Given the description of an element on the screen output the (x, y) to click on. 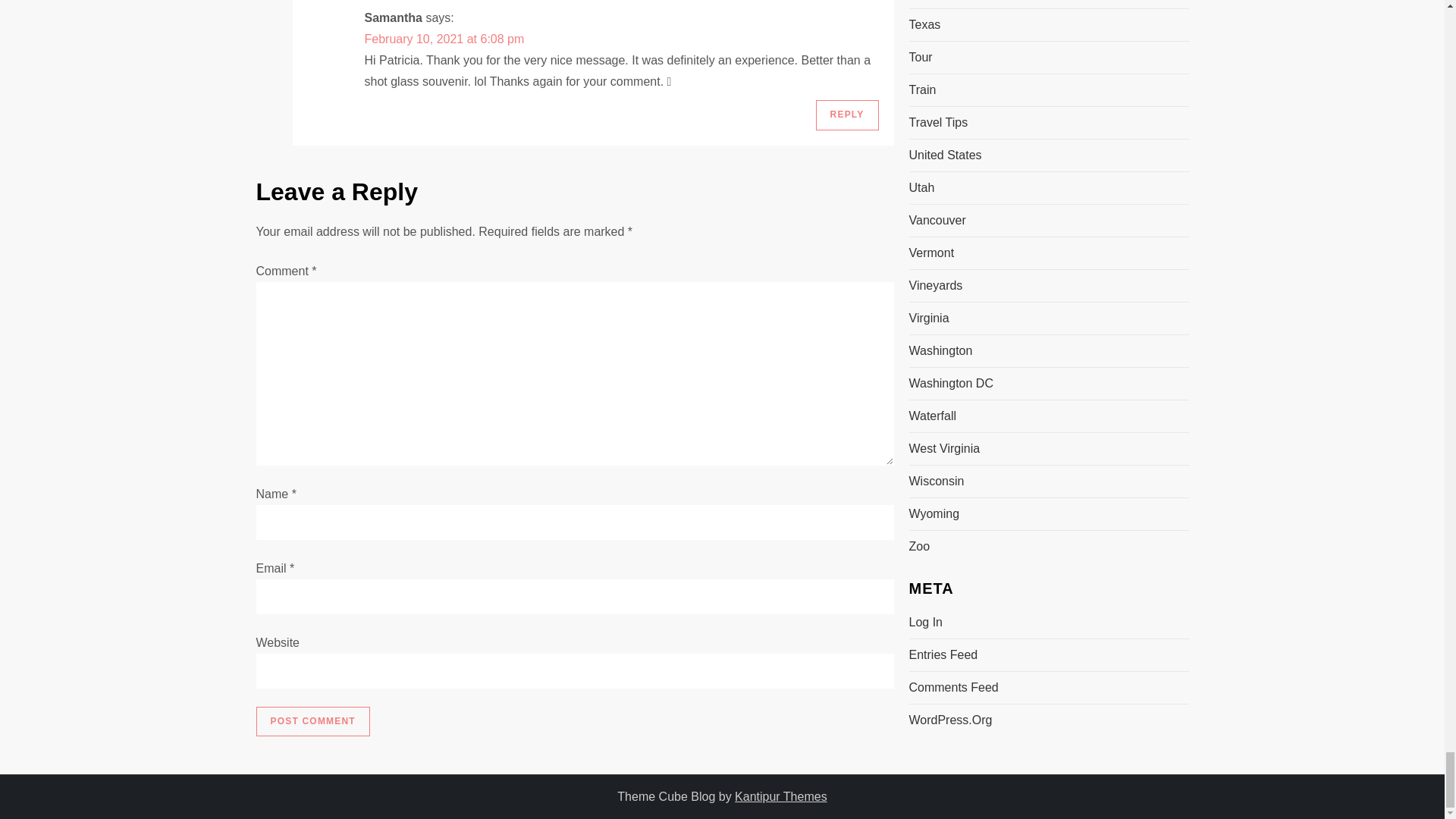
Post Comment (312, 721)
